Given the description of an element on the screen output the (x, y) to click on. 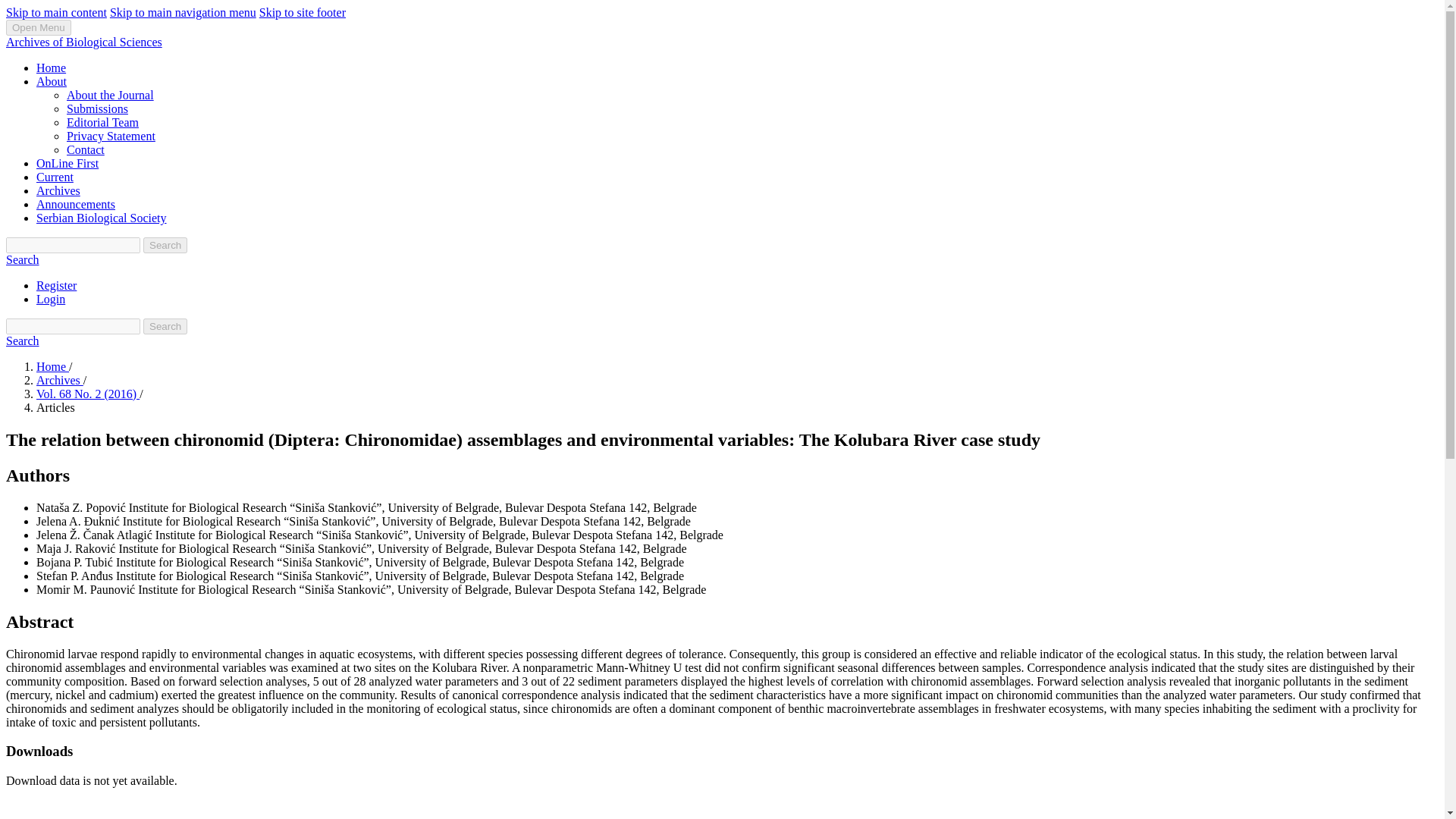
Archives (58, 190)
OnLine First (67, 163)
Search (164, 326)
Home (52, 366)
Skip to site footer (302, 11)
Skip to main navigation menu (183, 11)
Home (50, 67)
Privacy Statement (110, 135)
Login (50, 298)
Current (55, 176)
Open Menu (38, 27)
Archives (59, 379)
Archives of Biological Sciences (83, 42)
Search (22, 259)
Search (164, 245)
